Given the description of an element on the screen output the (x, y) to click on. 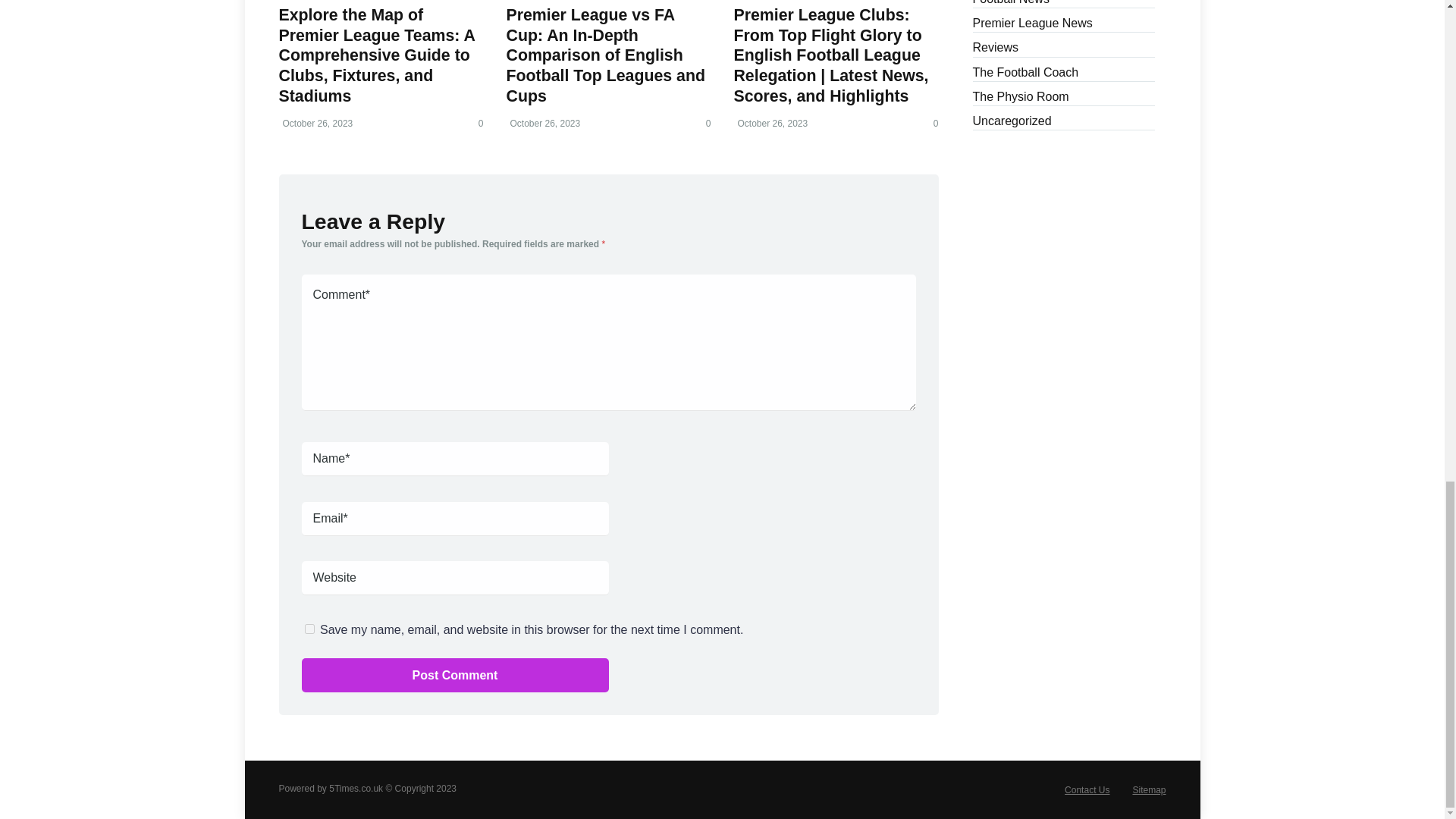
Premier League News (1032, 21)
Post Comment (454, 675)
Football News (1010, 4)
yes (309, 628)
Post Comment (454, 675)
